Given the description of an element on the screen output the (x, y) to click on. 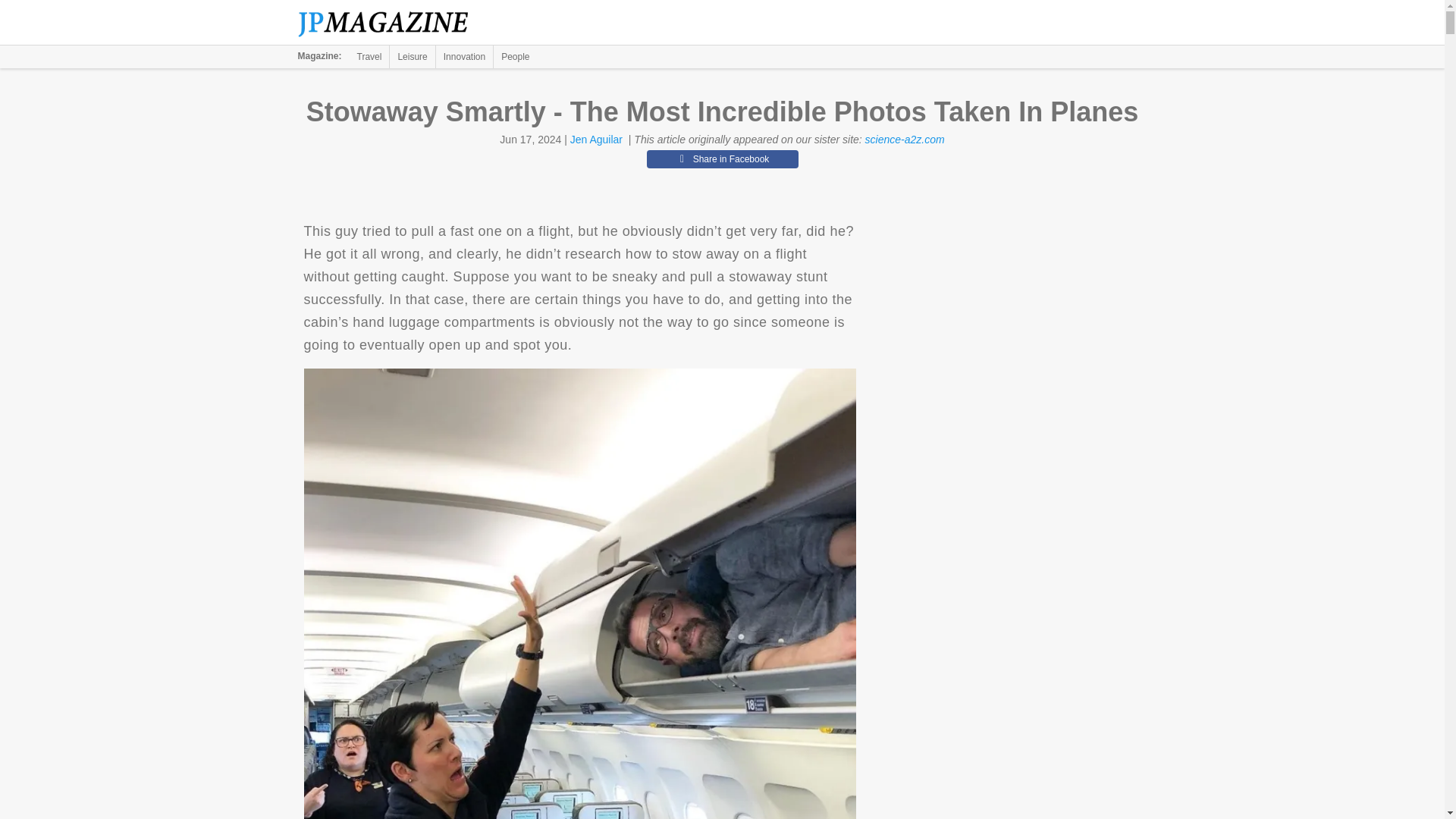
The Jerusalem Post Magazine (391, 22)
Jen Aguilar (596, 139)
Innovation (464, 56)
science-a2z.com (904, 139)
People (515, 56)
Travel (369, 56)
Share in Facebook (721, 158)
Leisure (411, 56)
